Given the description of an element on the screen output the (x, y) to click on. 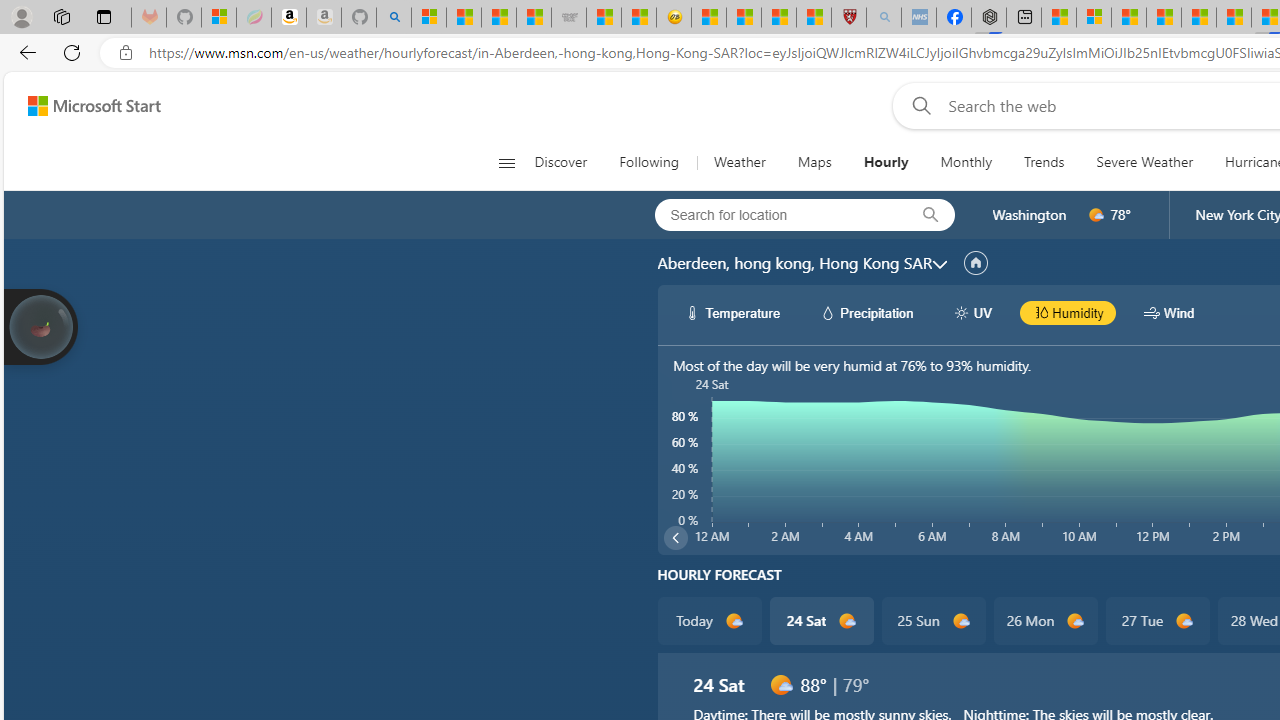
hourlyChart/precipitationWhite (828, 312)
Search for location (775, 214)
Today d1000 (708, 620)
Maps (813, 162)
Severe Weather (1144, 162)
